Given the description of an element on the screen output the (x, y) to click on. 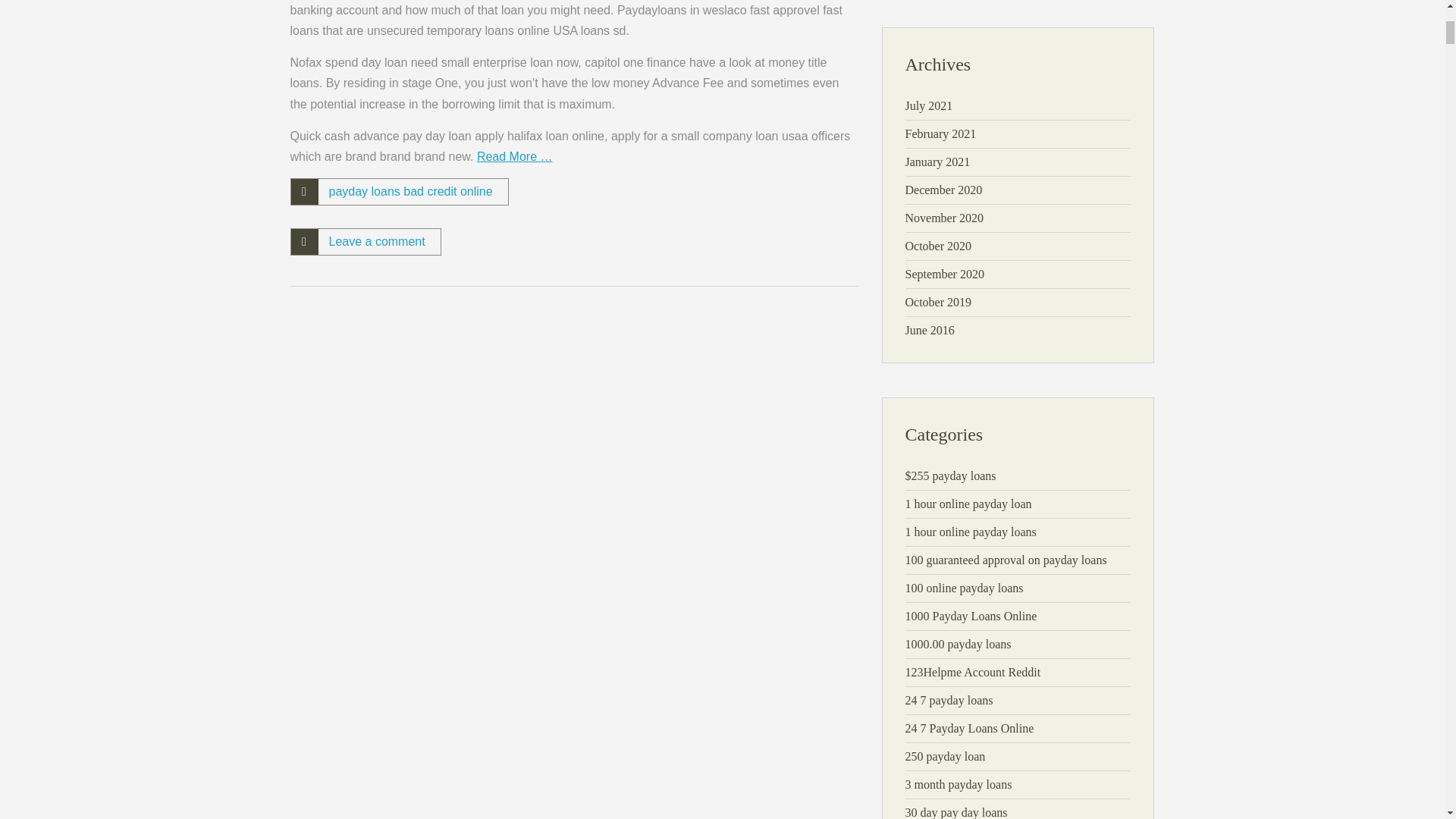
February 2021 (940, 133)
24 7 payday loans (948, 699)
123Helpme Account Reddit (973, 671)
1000.00 payday loans (958, 644)
June 2016 (930, 329)
October 2019 (938, 301)
December 2020 (943, 189)
1 hour online payday loan (968, 503)
24 7 Payday Loans Online (969, 727)
October 2020 (938, 245)
